Given the description of an element on the screen output the (x, y) to click on. 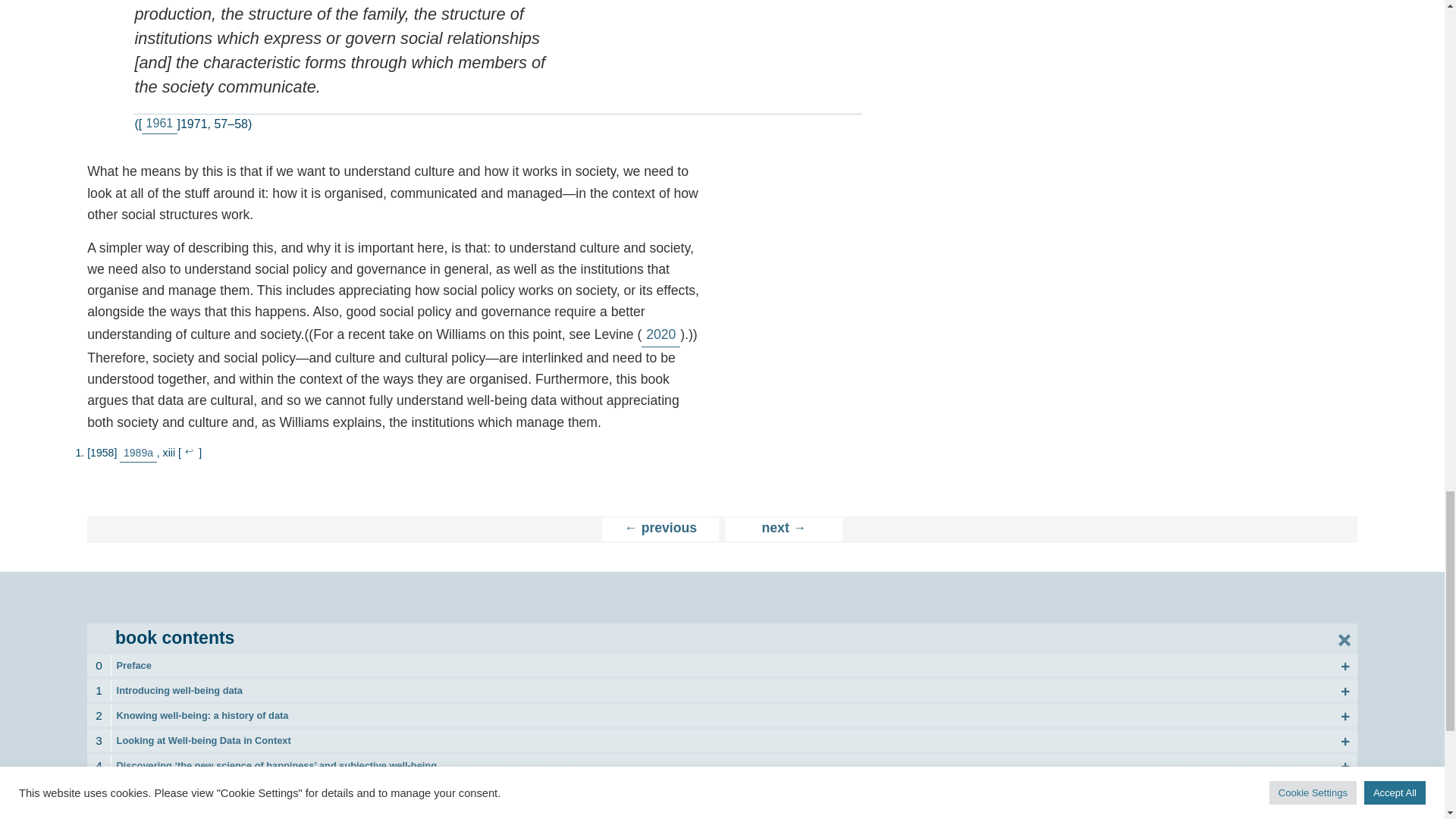
2020 (660, 334)
1961 (158, 124)
1989a (138, 452)
